Given the description of an element on the screen output the (x, y) to click on. 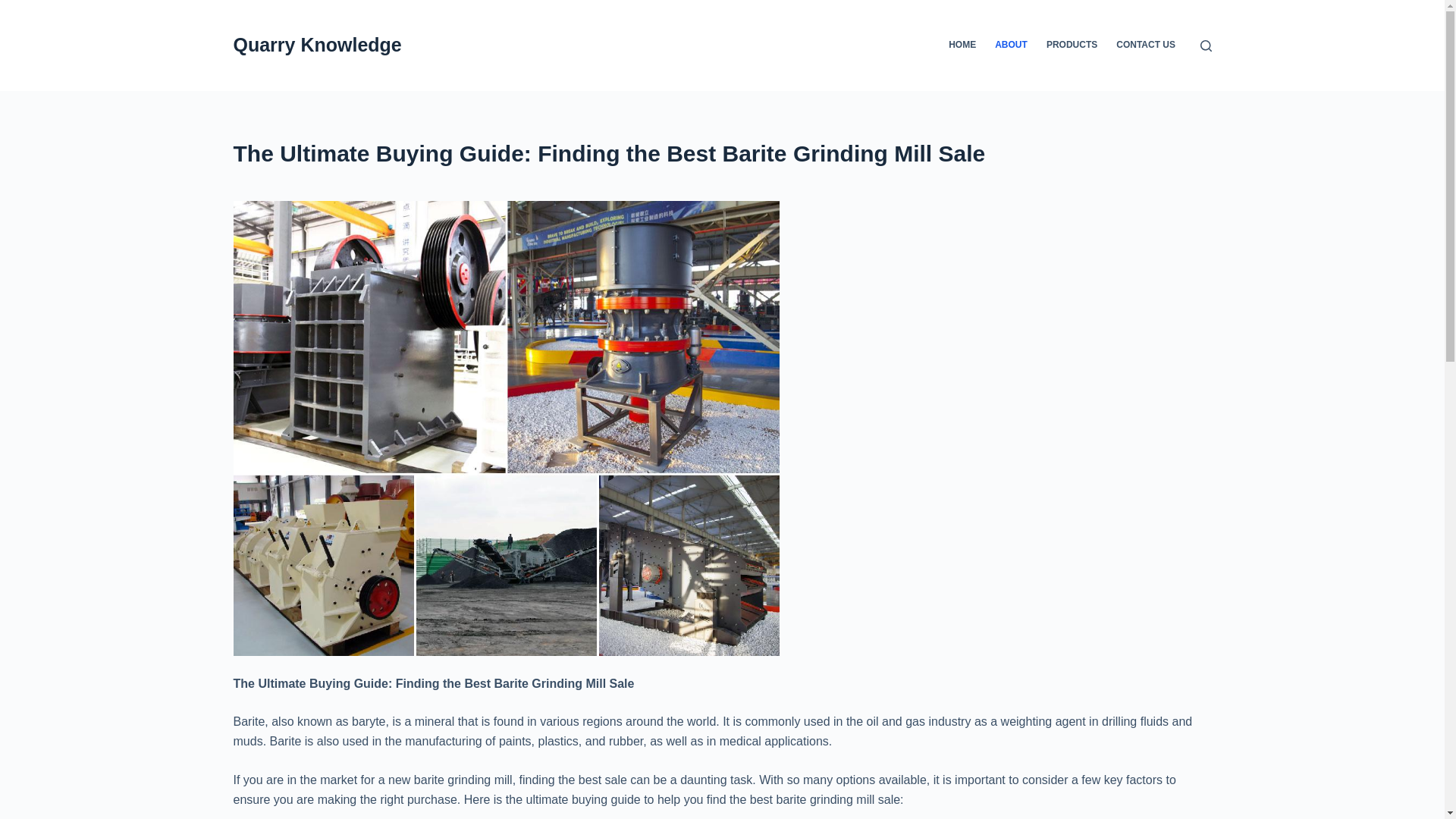
About (721, 153)
Quarry Knowledge (316, 44)
Skip to content (15, 7)
